Given the description of an element on the screen output the (x, y) to click on. 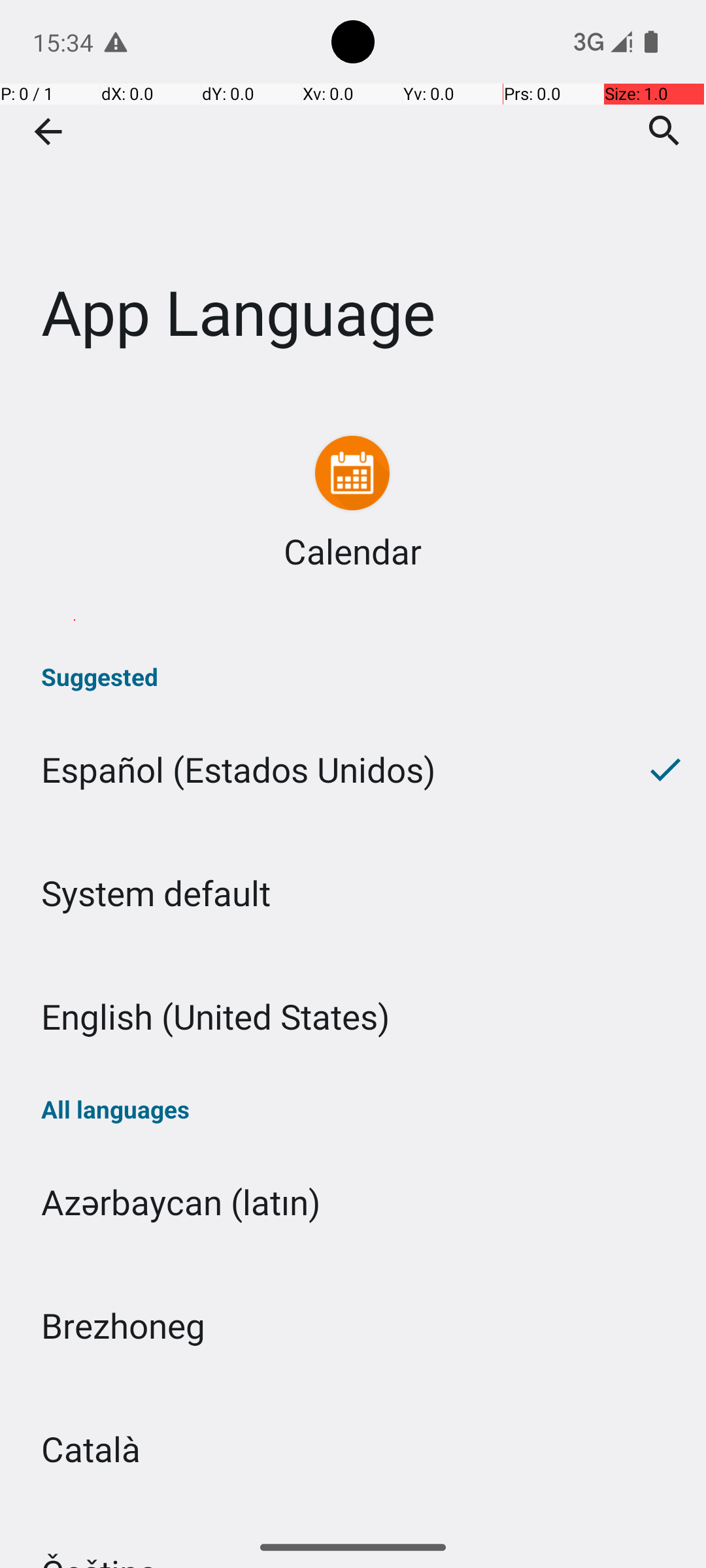
App Language Element type: android.widget.FrameLayout (353, 195)
Suggested Element type: android.widget.TextView (353, 676)
System default Element type: android.widget.TextView (353, 892)
English (United States) Element type: android.widget.TextView (353, 1016)
All languages Element type: android.widget.TextView (353, 1109)
Azərbaycan (latın) Element type: android.widget.TextView (353, 1201)
Brezhoneg Element type: android.widget.TextView (353, 1325)
Català Element type: android.widget.TextView (353, 1448)
Čeština Element type: android.widget.TextView (353, 1518)
Español (Estados Unidos) Element type: android.widget.TextView (312, 769)
